Given the description of an element on the screen output the (x, y) to click on. 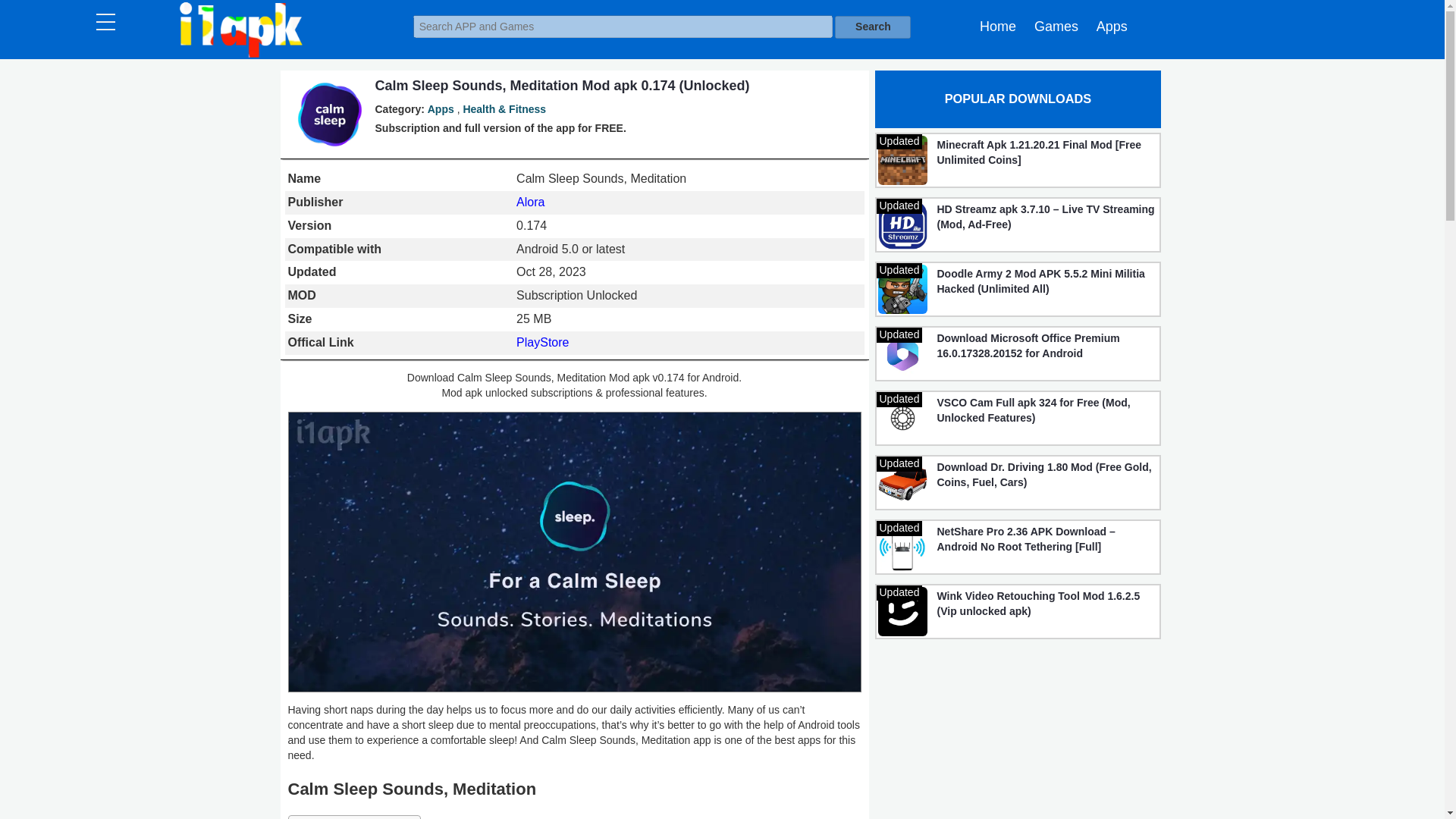
Search (872, 26)
Home (997, 26)
Apps (1111, 26)
Games (1055, 26)
Search (872, 26)
